Given the description of an element on the screen output the (x, y) to click on. 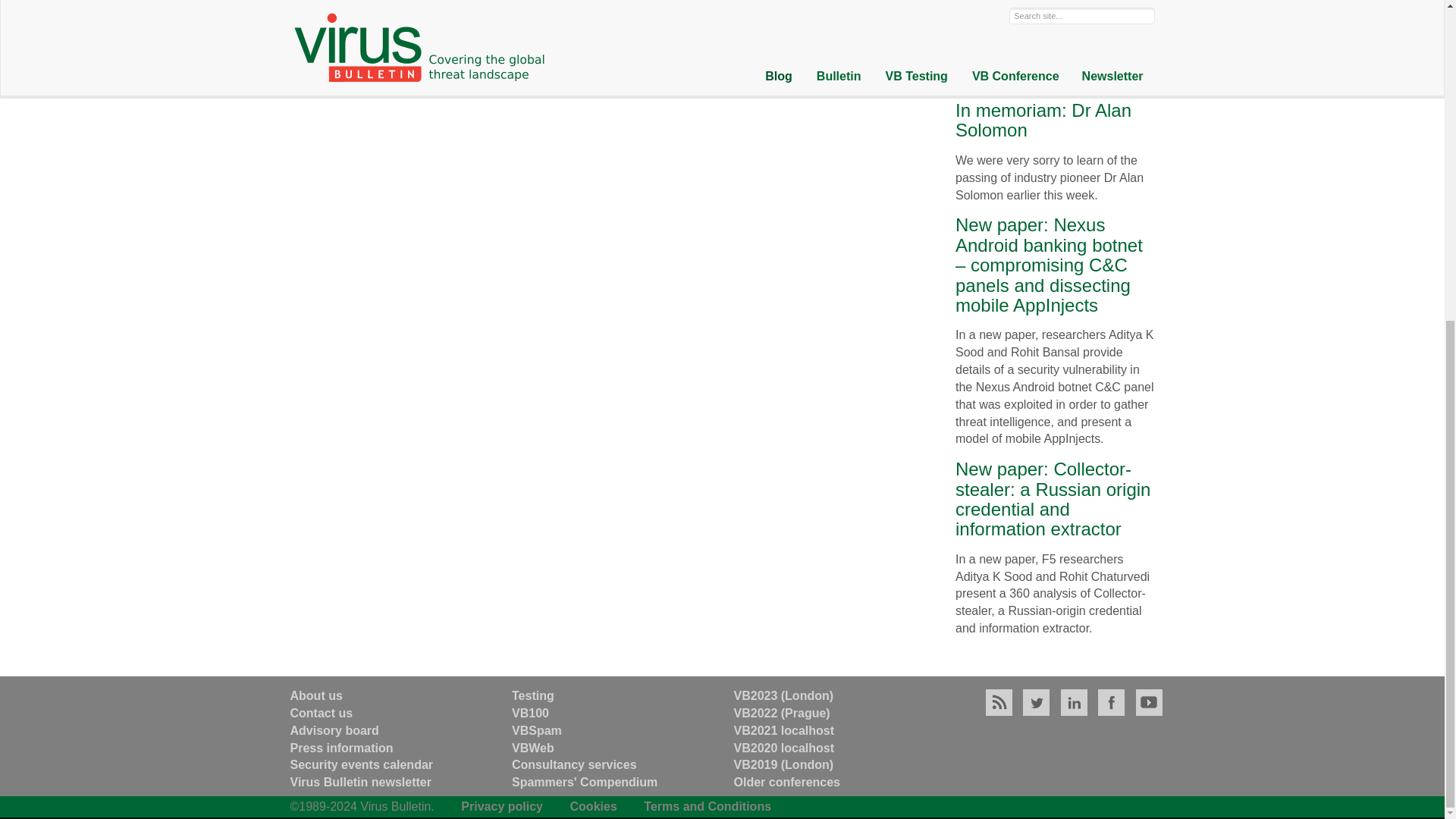
Consultancy Services (574, 764)
Press (341, 748)
Contact Us (320, 712)
About Us (315, 695)
VB2022 (781, 712)
VB2021 localhost (783, 730)
VBSpam (537, 730)
VB2023 (783, 695)
Advisory board (333, 730)
The Spammers' Compendium (585, 781)
VBSpam (537, 730)
In memoriam: Prof. Ross Anderson (1032, 12)
Security events calendar (360, 764)
Press information (341, 748)
